Given the description of an element on the screen output the (x, y) to click on. 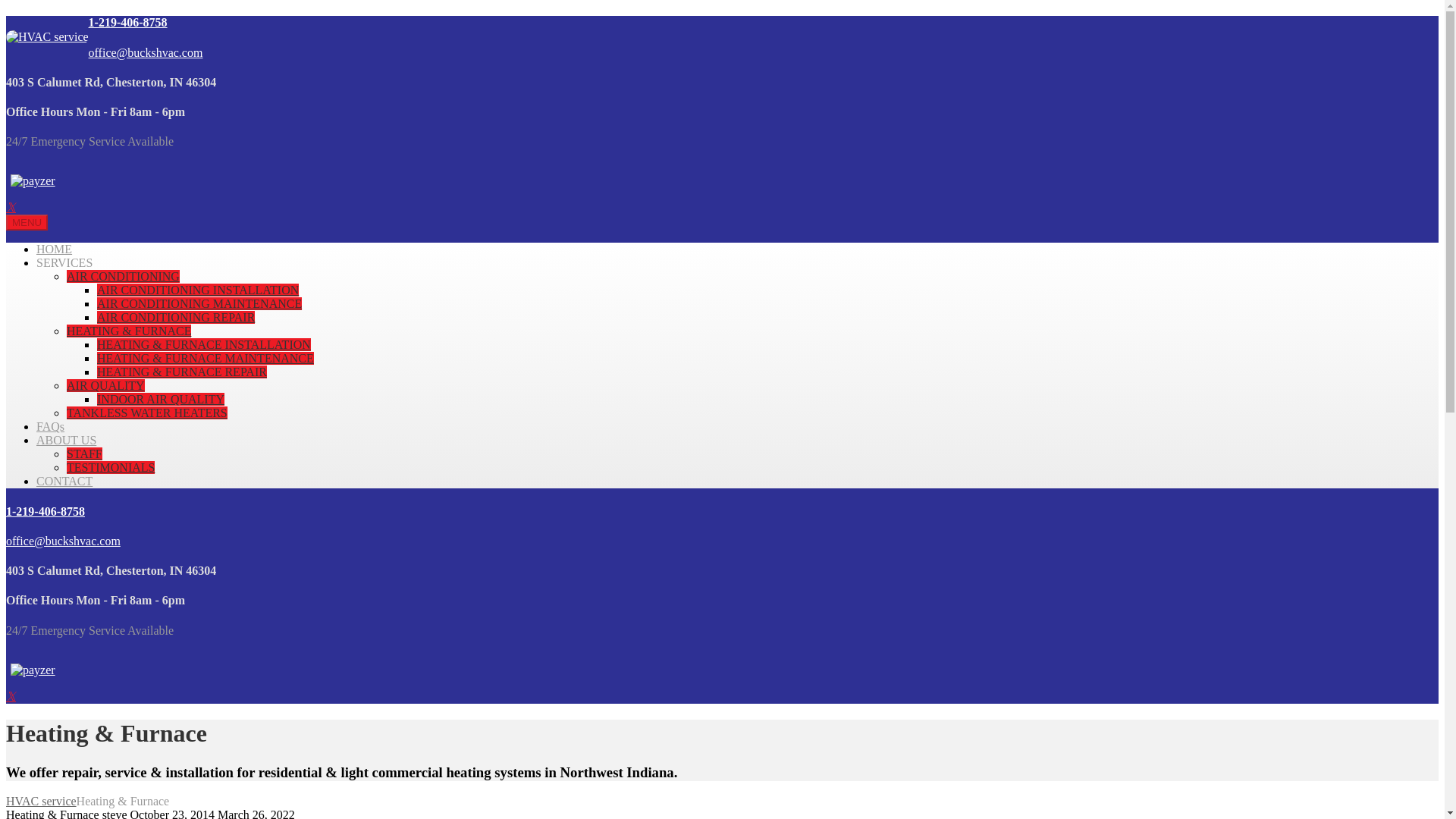
AIR CONDITIONING REPAIR (175, 317)
SERVICES (64, 262)
STAFF (83, 453)
CONTACT (64, 481)
AIR CONDITIONING (122, 276)
AIR CONDITIONING MAINTENANCE (199, 303)
AIR CONDITIONING INSTALLATION (197, 289)
MENU (26, 222)
HOME (53, 248)
1-219-406-8758 (127, 21)
HVAC service (41, 800)
INDOOR AIR QUALITY (160, 399)
TESTIMONIALS (110, 467)
ABOUT US (66, 440)
FAQs (50, 426)
